Given the description of an element on the screen output the (x, y) to click on. 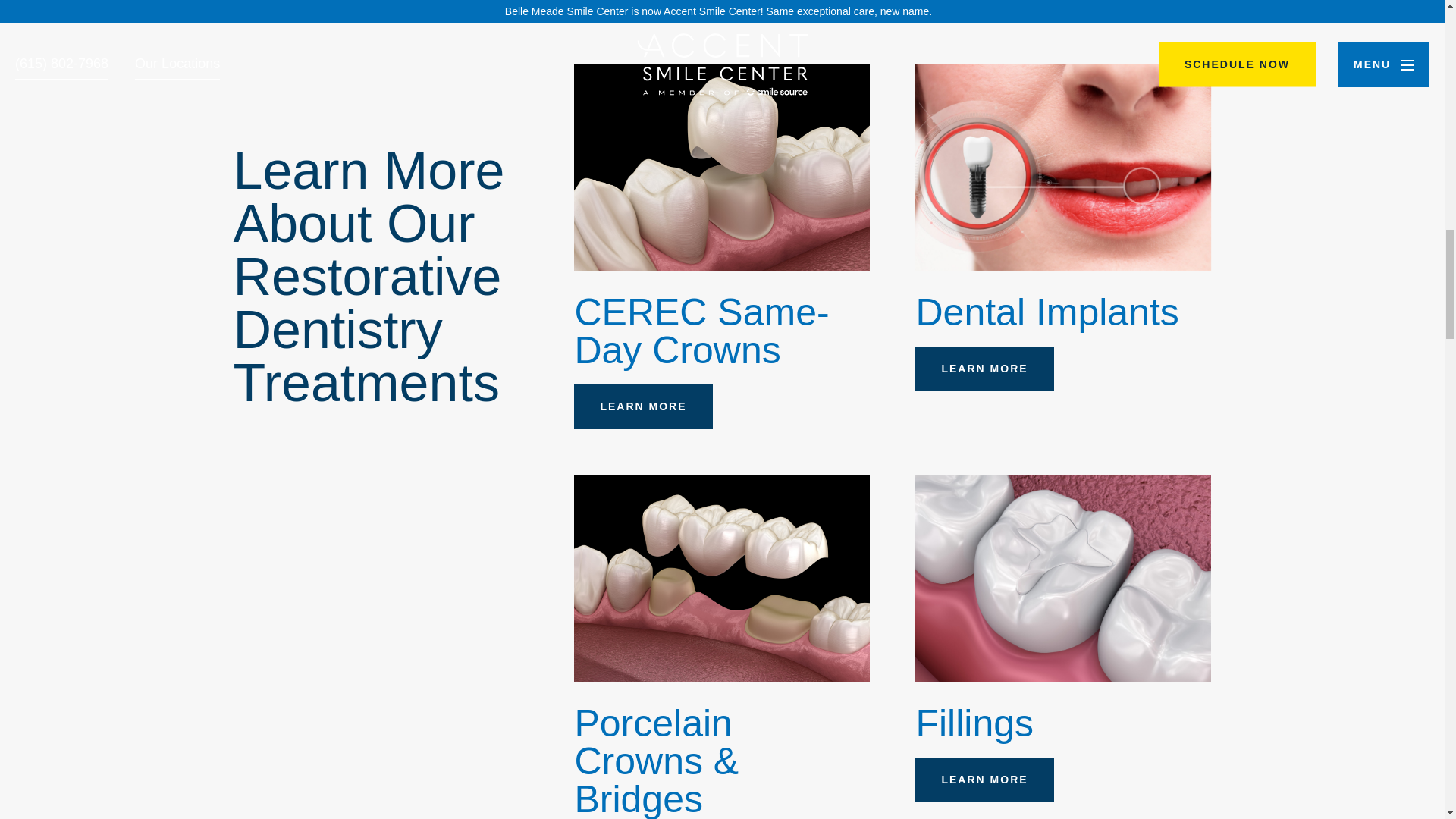
Zahnimplantat (1063, 167)
Dental fissure fillings, Medically accurate 3D illustration (1063, 578)
